Given the description of an element on the screen output the (x, y) to click on. 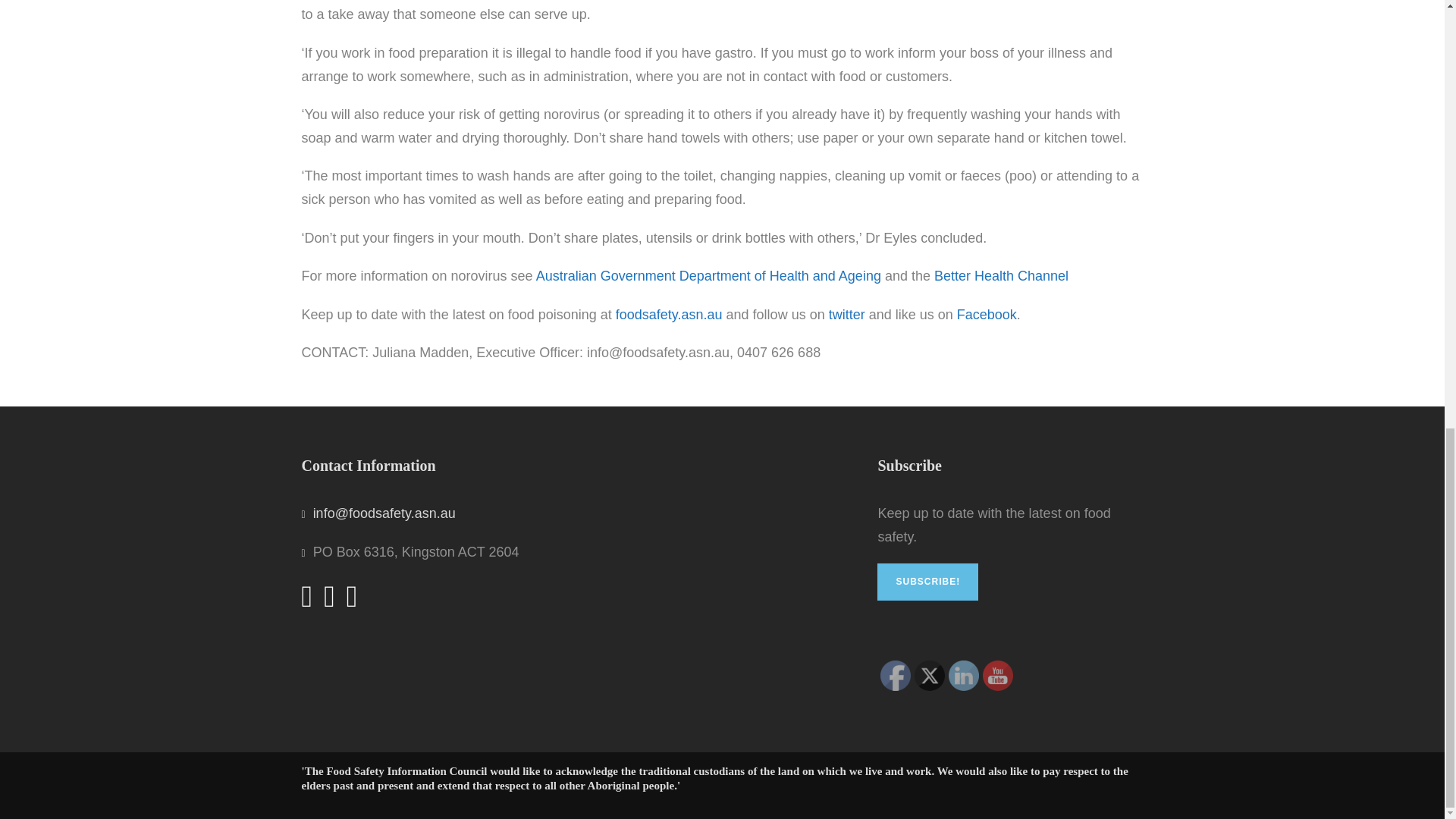
Facebook (895, 675)
Twitter (929, 675)
LinkedIn (963, 675)
Vist us (997, 675)
